Given the description of an element on the screen output the (x, y) to click on. 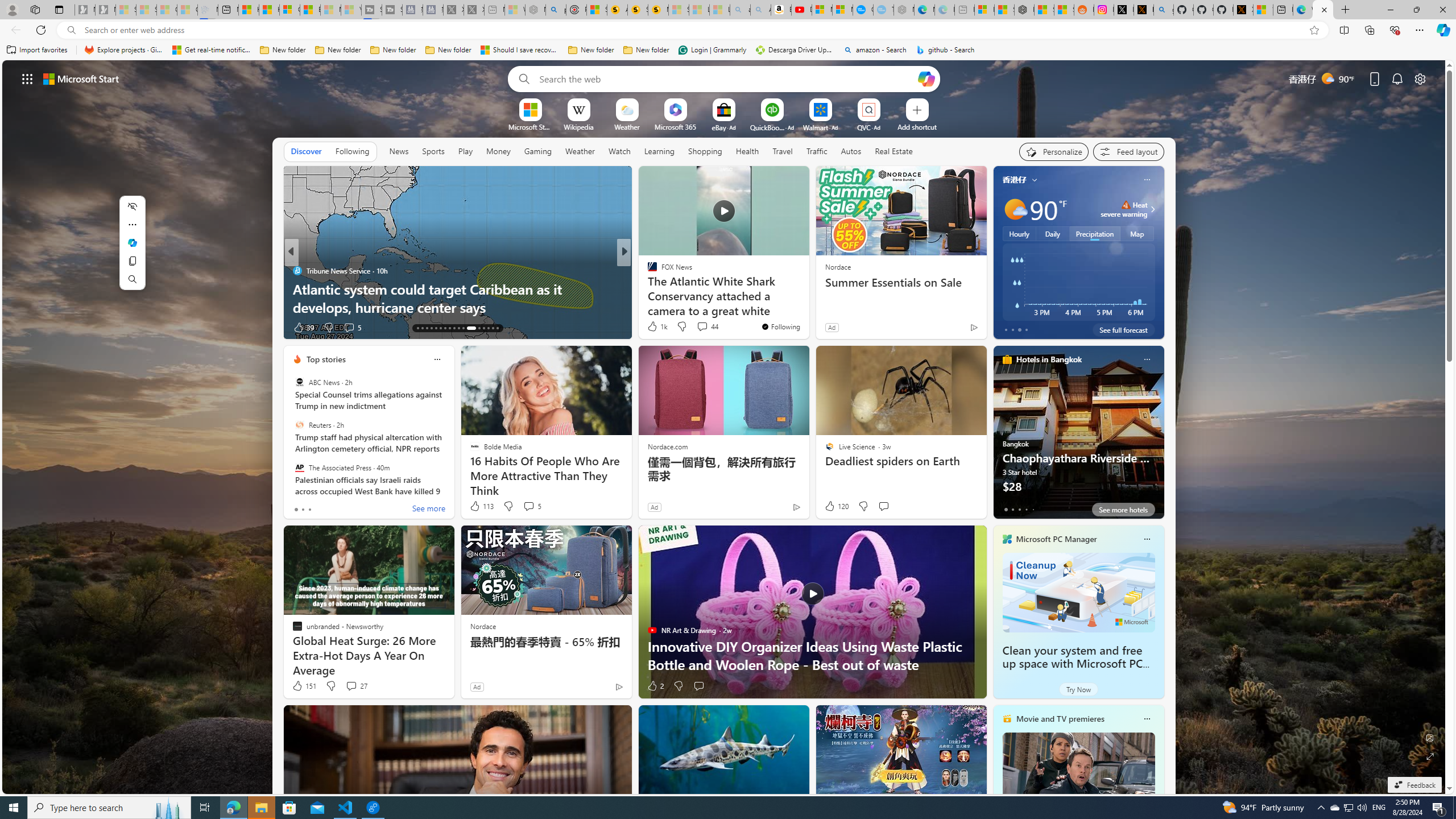
View comments 44 Comment (701, 326)
View comments 3 Comment (702, 327)
AutomationID: tab-15 (426, 328)
View comments 27 Comment (350, 685)
Shopping (705, 151)
